Given the description of an element on the screen output the (x, y) to click on. 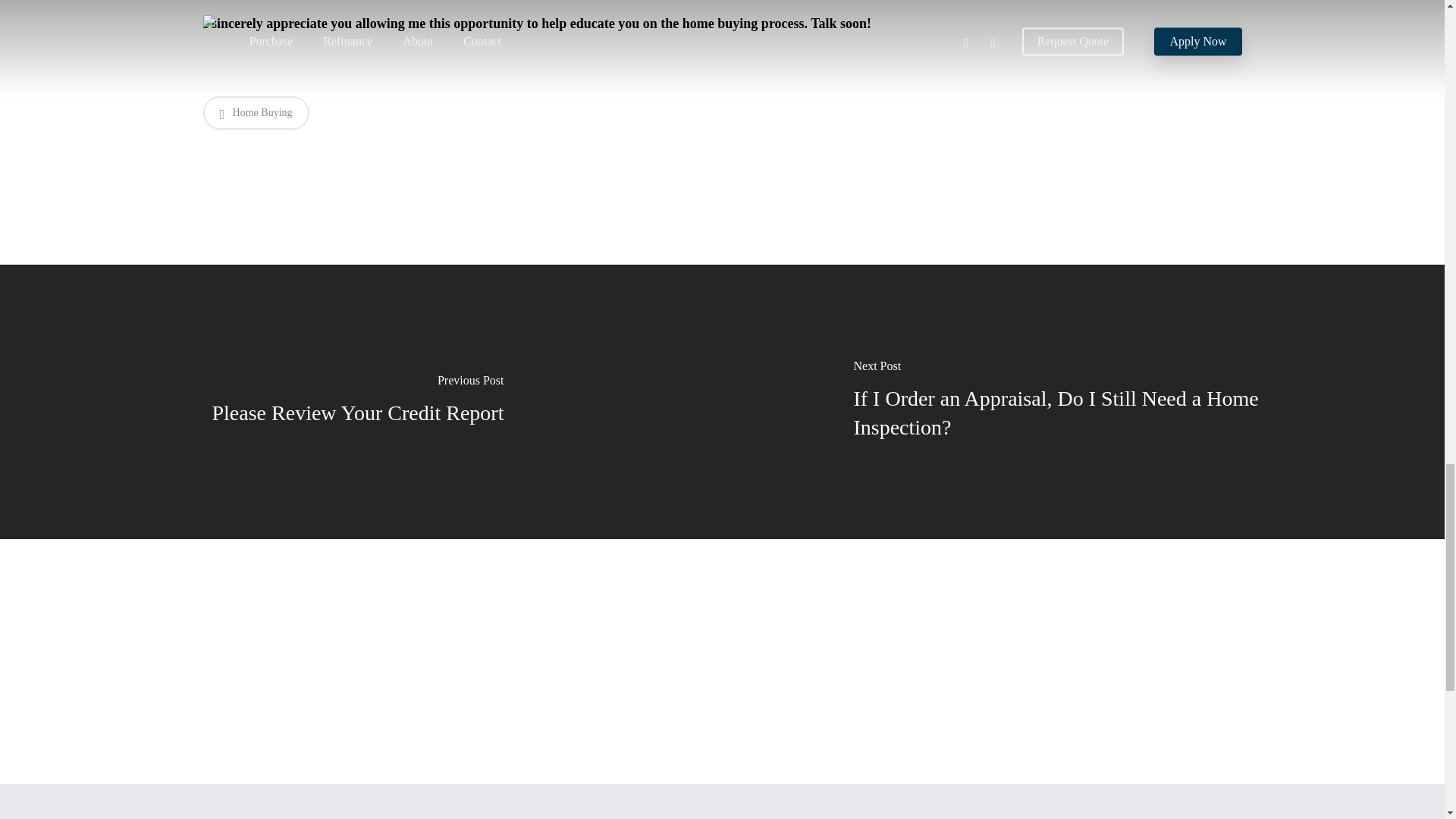
Home Buying (255, 112)
